Given the description of an element on the screen output the (x, y) to click on. 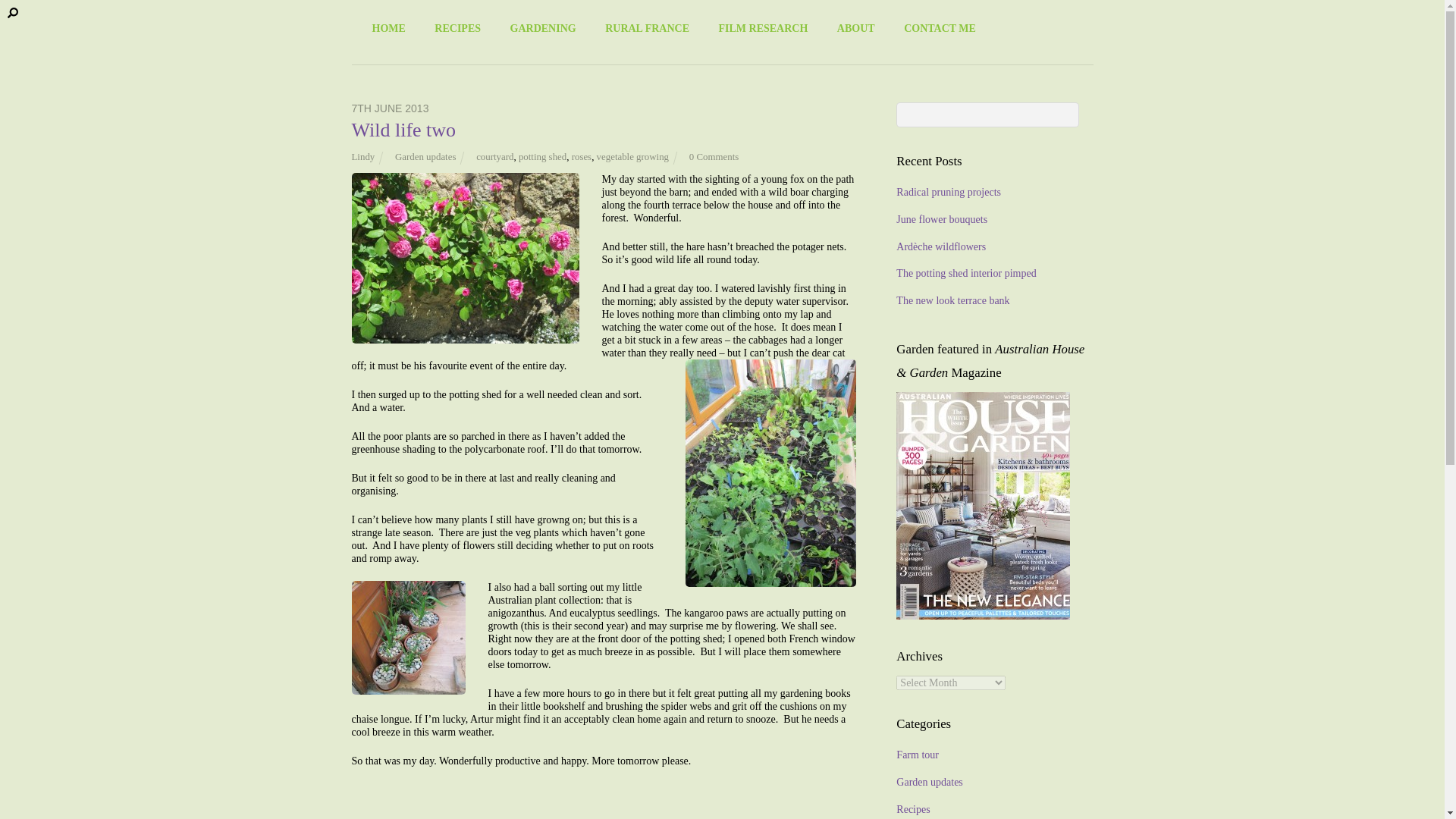
The new look terrace bank (952, 300)
vegetable growing (632, 156)
June flower bouquets (941, 219)
potting shed (542, 156)
roses (581, 156)
GARDENING (543, 28)
Lindy (363, 156)
FILM RESEARCH (762, 28)
Farm tour (917, 754)
ABOUT (855, 28)
RURAL FRANCE (647, 28)
CONTACT ME (939, 28)
The potting shed interior pimped (965, 273)
Garden updates (424, 156)
Search (987, 114)
